Given the description of an element on the screen output the (x, y) to click on. 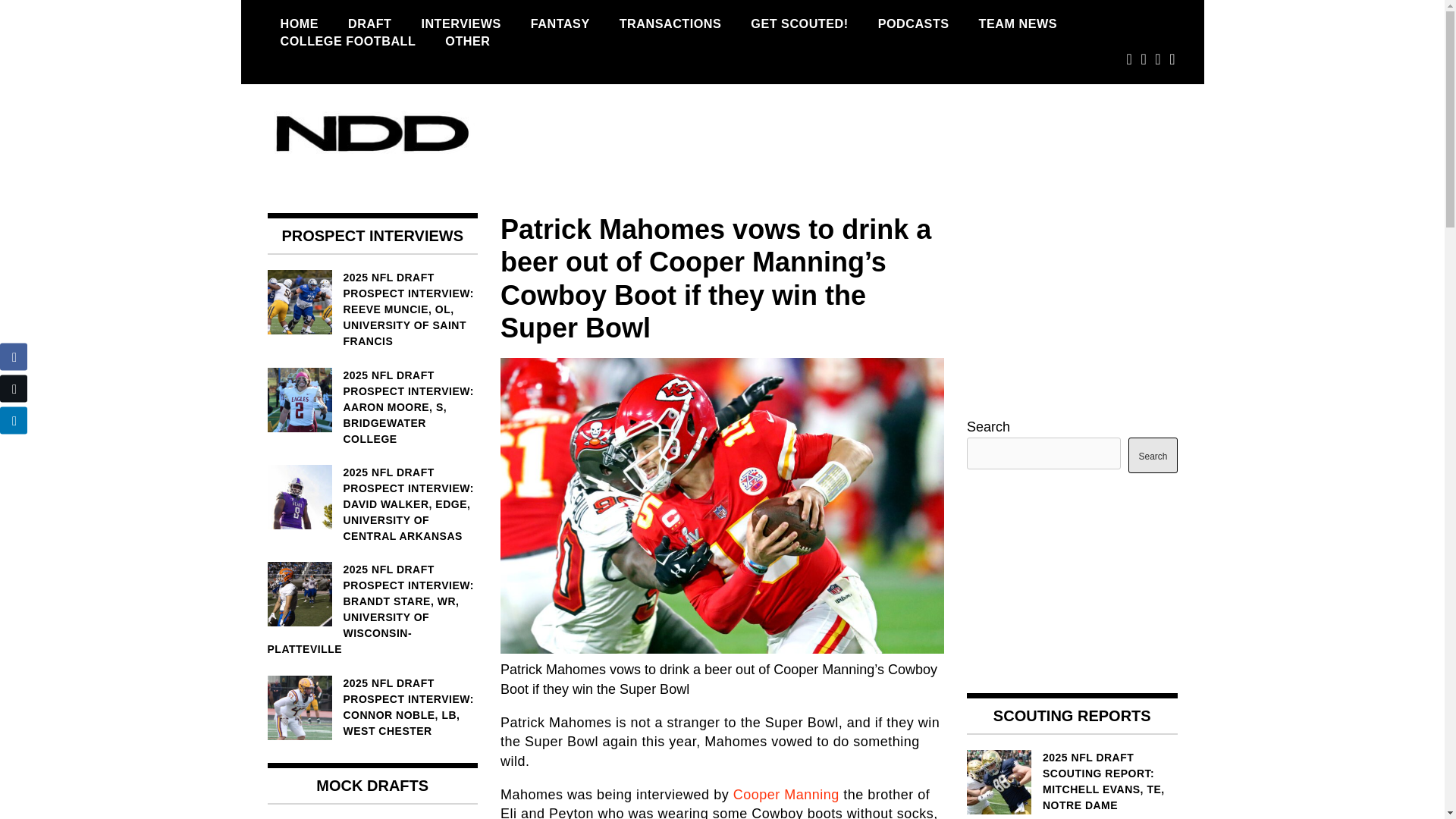
HOME (298, 23)
FANTASY (560, 23)
TEAM NEWS (1018, 23)
DRAFT (369, 23)
GET SCOUTED! (799, 23)
PODCASTS (913, 23)
INTERVIEWS (460, 23)
TRANSACTIONS (670, 23)
